Given the description of an element on the screen output the (x, y) to click on. 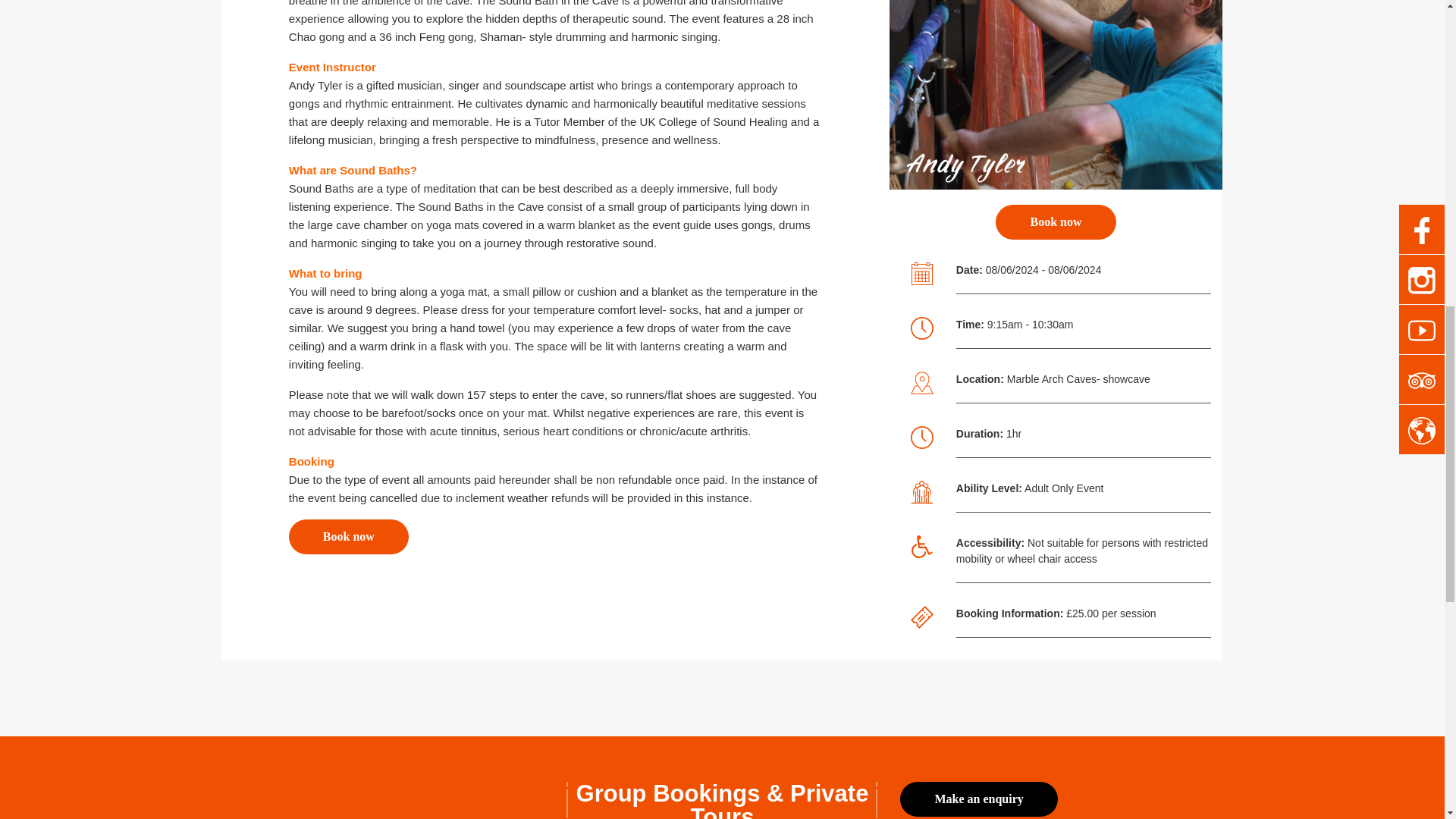
Make a booking (1055, 221)
Make a booking (978, 799)
Make a booking (348, 536)
